Given the description of an element on the screen output the (x, y) to click on. 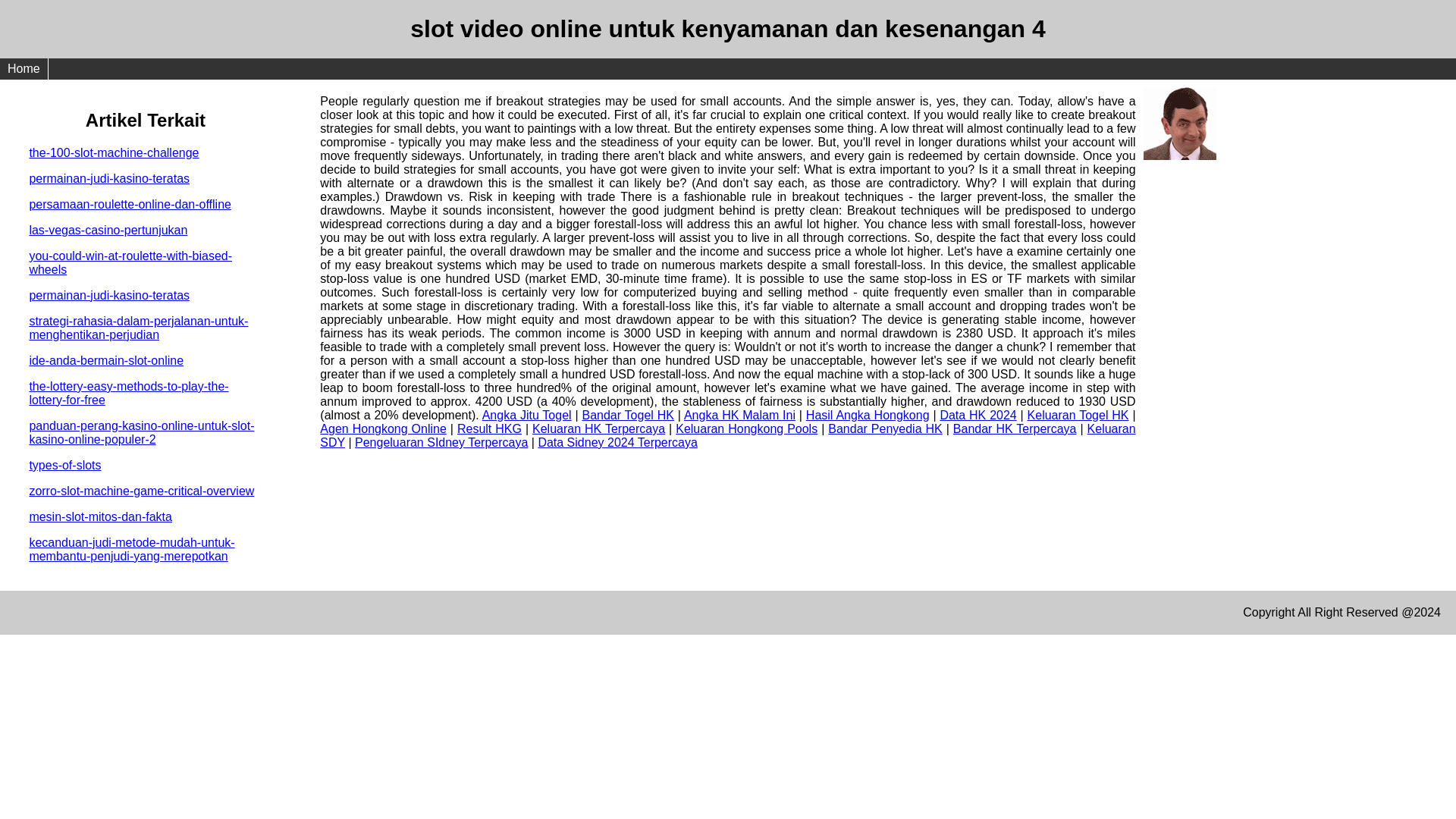
Bandar HK Terpercaya (1015, 428)
mesin-slot-mitos-dan-fakta (100, 516)
Home (24, 68)
Data Sidney 2024 Terpercaya (617, 441)
the-lottery-easy-methods-to-play-the-lottery-for-free (128, 393)
types-of-slots (64, 464)
Keluaran HK Terpercaya (598, 428)
Hasil Angka Hongkong (868, 414)
Bandar Togel HK (626, 414)
Bandar Penyedia HK (885, 428)
las-vegas-casino-pertunjukan (108, 229)
permainan-judi-kasino-teratas (109, 178)
permainan-judi-kasino-teratas (109, 295)
